Given the description of an element on the screen output the (x, y) to click on. 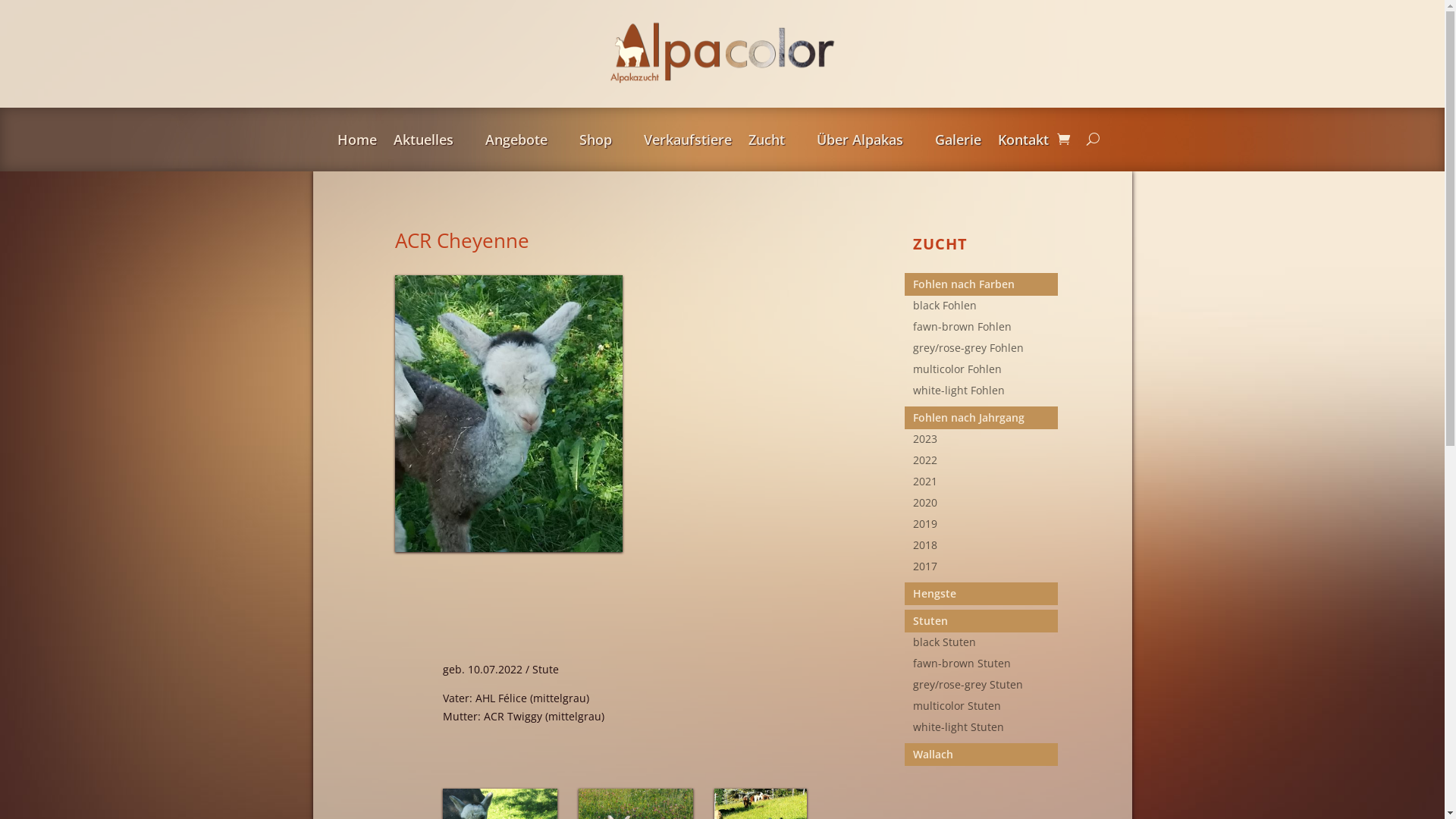
Logo_Alpacolor3 Element type: hover (721, 53)
2023 Element type: text (985, 441)
Verkaufstiere Element type: text (687, 142)
fawn-brown Stuten Element type: text (985, 666)
grey/rose-grey Fohlen Element type: text (985, 350)
Angebote Element type: text (523, 142)
fawn-brown Fohlen Element type: text (985, 329)
Fohlen nach Jahrgang Element type: text (985, 417)
grey/rose-grey Stuten Element type: text (985, 687)
Galerie Element type: text (957, 142)
Aktuelles Element type: text (429, 142)
2021 Element type: text (985, 484)
Zucht Element type: text (773, 142)
2019 Element type: text (985, 526)
Hengste Element type: text (985, 593)
cheyenne1 Element type: hover (507, 413)
multicolor Fohlen Element type: text (985, 372)
2020 Element type: text (985, 505)
multicolor Stuten Element type: text (985, 708)
white-light Fohlen Element type: text (985, 393)
Stuten Element type: text (985, 620)
white-light Stuten Element type: text (985, 729)
Fohlen nach Farben Element type: text (985, 284)
2017 Element type: text (985, 569)
Shop Element type: text (603, 142)
Kontakt Element type: text (1022, 142)
Home Element type: text (356, 142)
black Stuten Element type: text (985, 645)
2018 Element type: text (985, 547)
Wallach Element type: text (985, 754)
black Fohlen Element type: text (985, 308)
2022 Element type: text (985, 463)
